Given the description of an element on the screen output the (x, y) to click on. 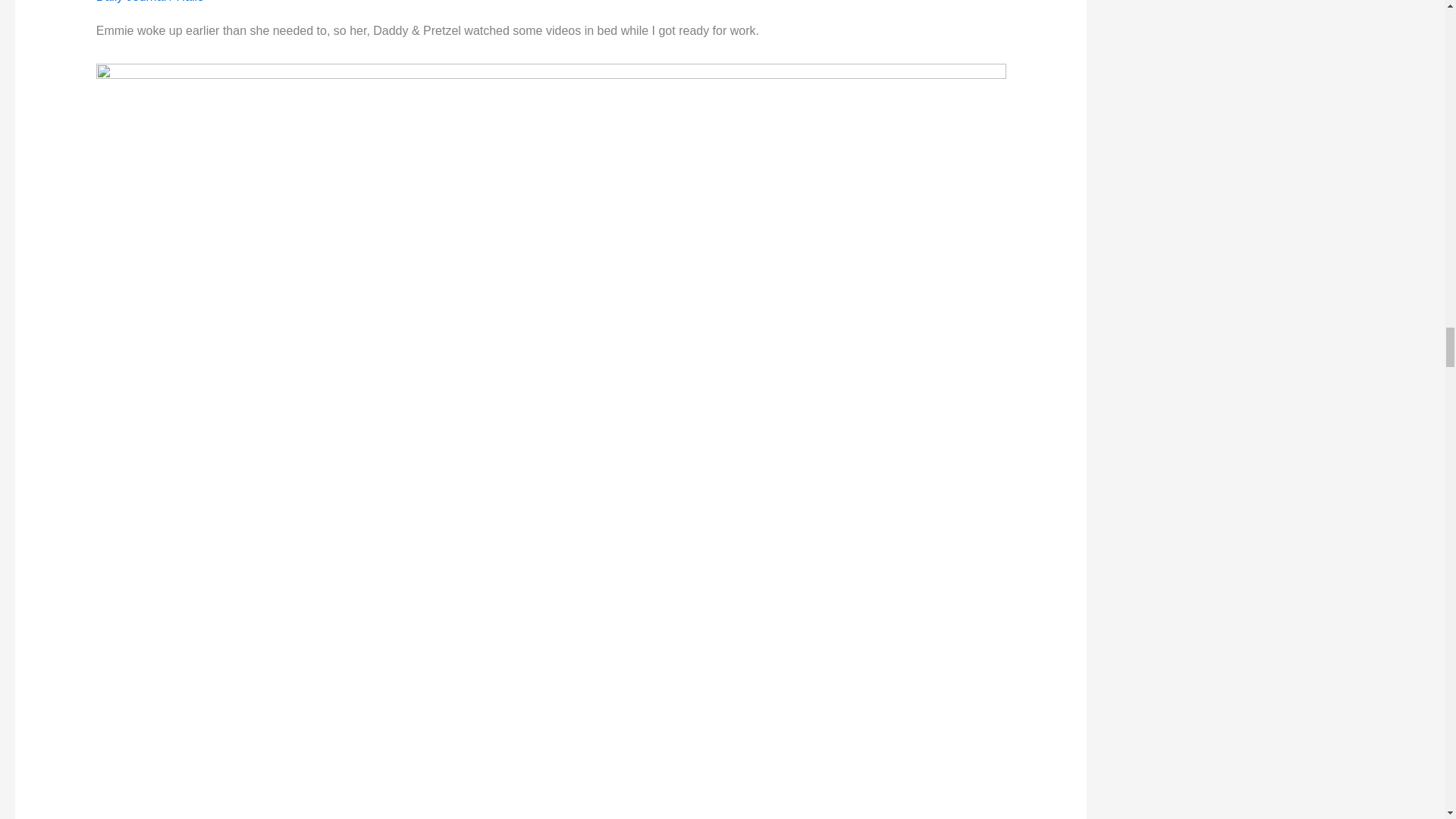
View all posts by Halie (189, 1)
